Given the description of an element on the screen output the (x, y) to click on. 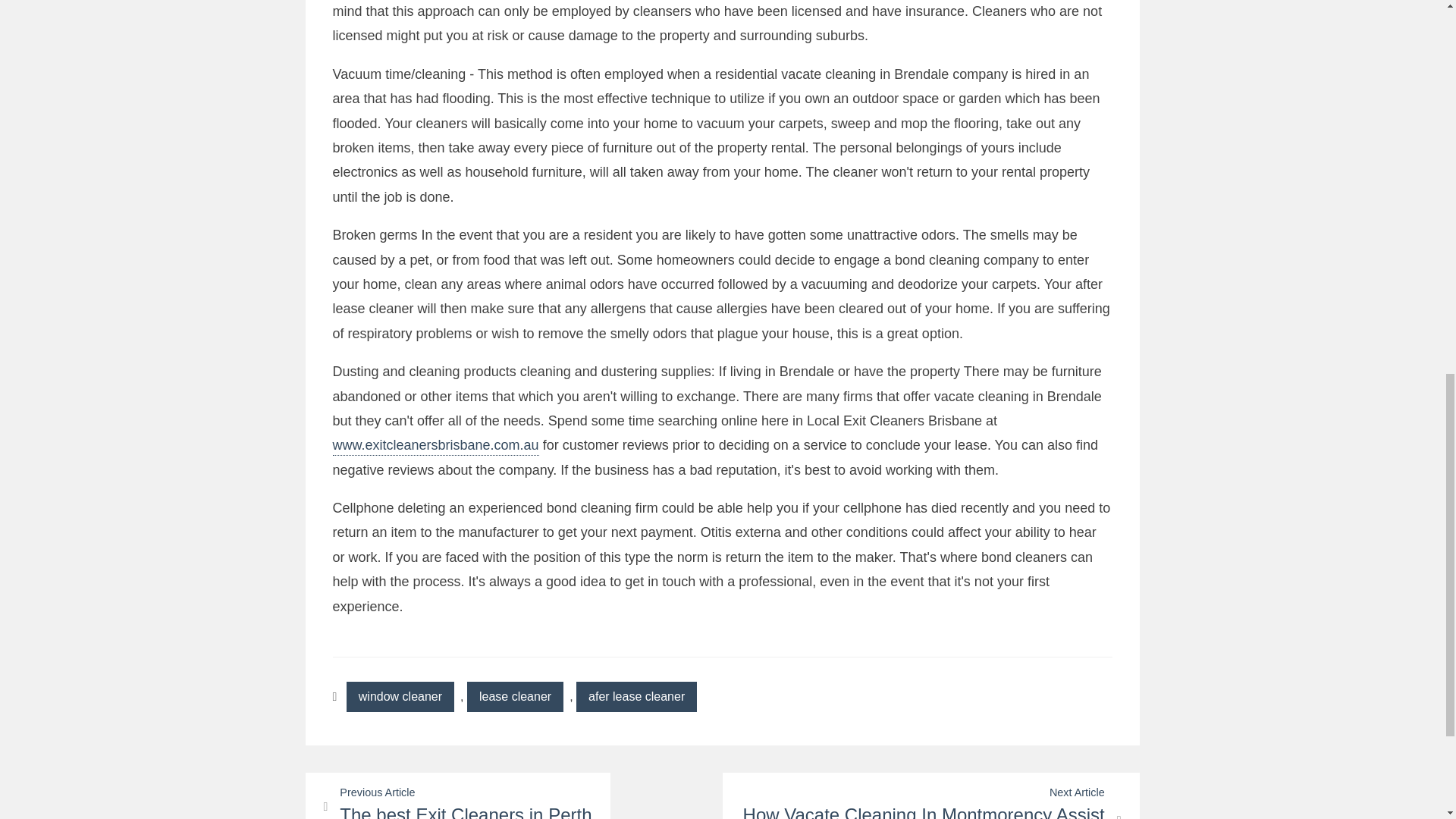
lease cleaner (515, 696)
window cleaner (930, 796)
afer lease cleaner (457, 796)
www.exitcleanersbrisbane.com.au (400, 696)
